Given the description of an element on the screen output the (x, y) to click on. 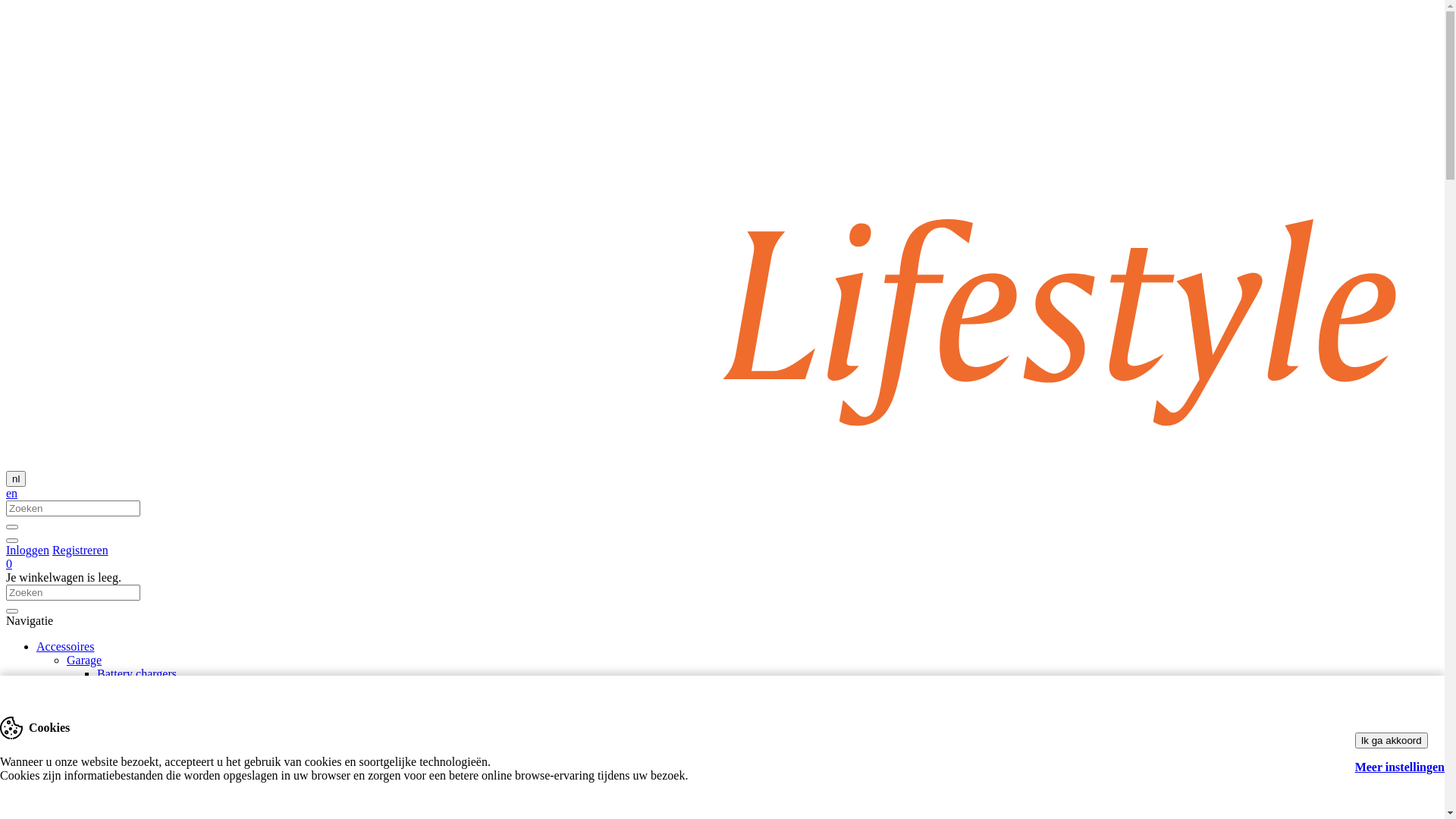
Accessoires Element type: text (65, 646)
Cylinder Head Covers Element type: text (151, 782)
Oil & Lube Element type: text (125, 727)
Hand & Foot Controls Collection Element type: text (178, 809)
Inloggen Element type: text (27, 549)
Engine Trim Element type: text (96, 755)
Garage Element type: text (83, 659)
Tools Element type: text (110, 741)
Registreren Element type: text (80, 549)
Controls Element type: text (87, 796)
Motorcycle Locks Element type: text (141, 714)
Meer instellingen Element type: text (1399, 766)
Battery chargers Element type: text (136, 673)
0 Element type: text (9, 563)
Ik ga akkoord Element type: text (1391, 740)
Surface Care Element type: text (128, 700)
nl Element type: text (15, 478)
Derby, Timer & Air Cleaner Covers Element type: text (183, 768)
en Element type: text (11, 492)
Motorcycle Covers Element type: text (143, 686)
